Given the description of an element on the screen output the (x, y) to click on. 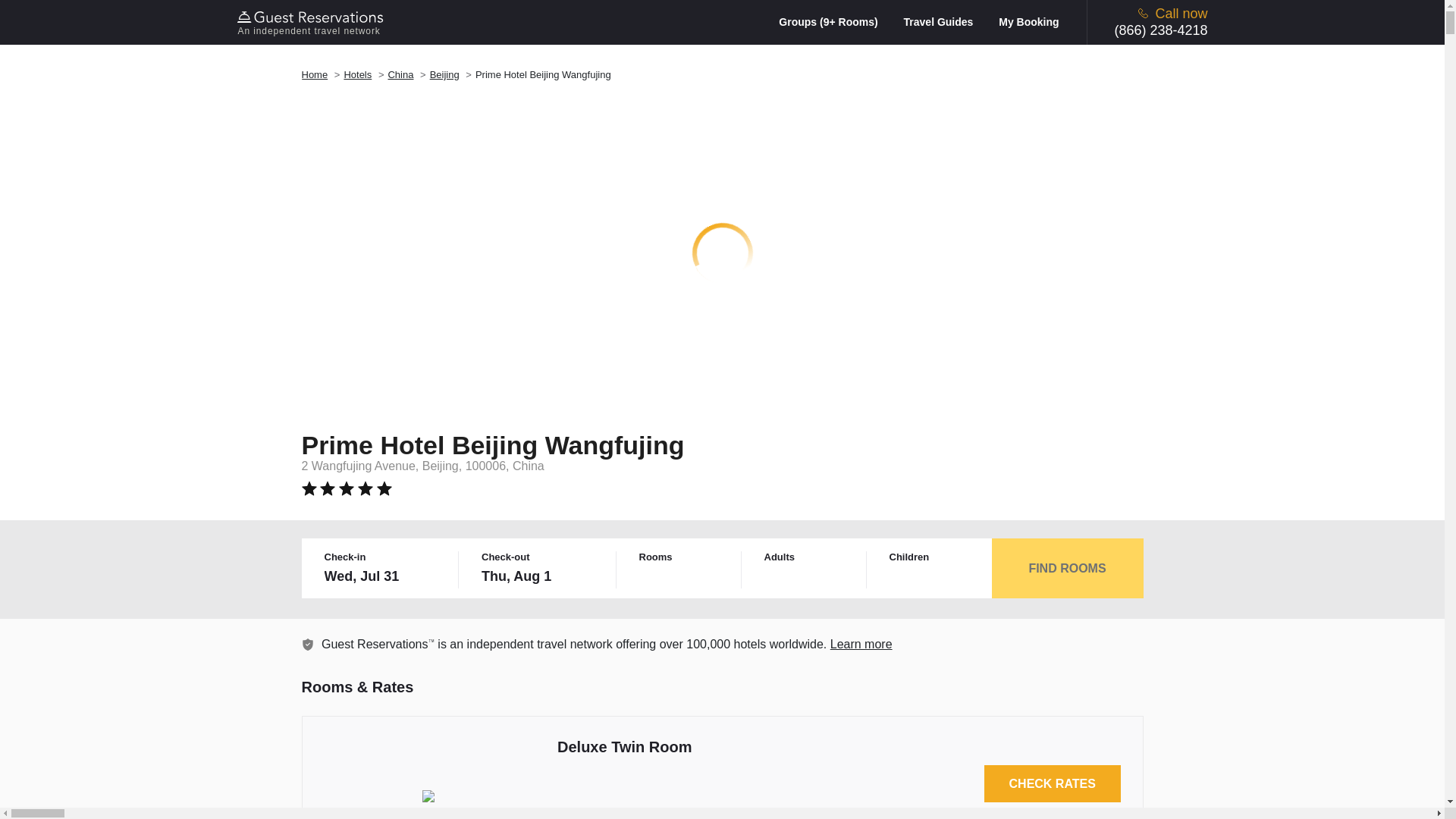
My Booking (1028, 21)
Guest Reservations - Logo (311, 16)
call (1143, 13)
Wed, Jul 31 (381, 576)
Learn more (307, 644)
Thu, Aug 1 (538, 576)
Travel Guides (949, 21)
Learn more (860, 644)
An independent travel network (311, 22)
My Booking (1028, 21)
Travel Guides (949, 21)
China (400, 74)
Guest Reservations (311, 22)
Home (315, 74)
Beijing (444, 74)
